Given the description of an element on the screen output the (x, y) to click on. 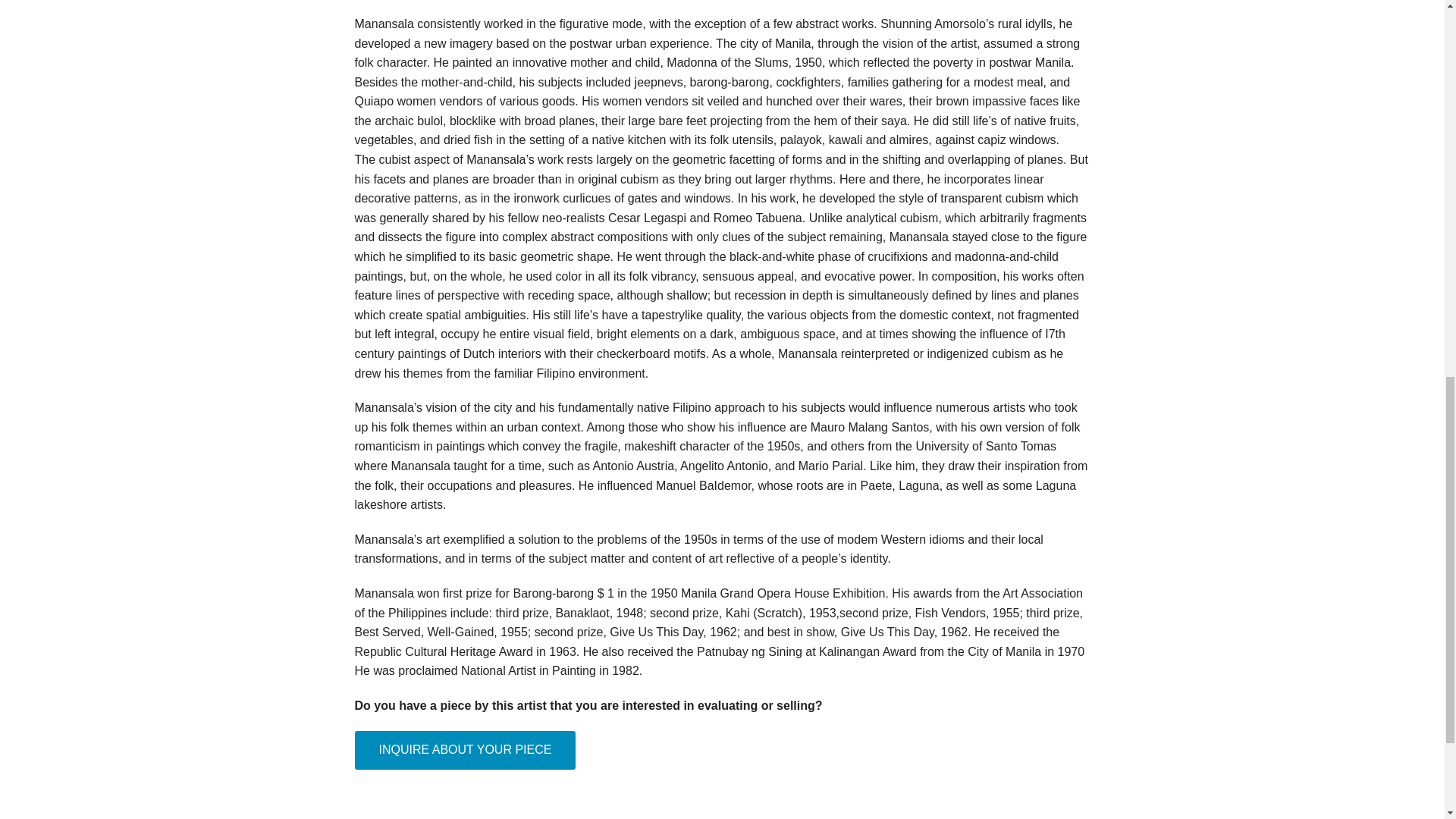
INQUIRE ABOUT YOUR PIECE (465, 750)
